Given the description of an element on the screen output the (x, y) to click on. 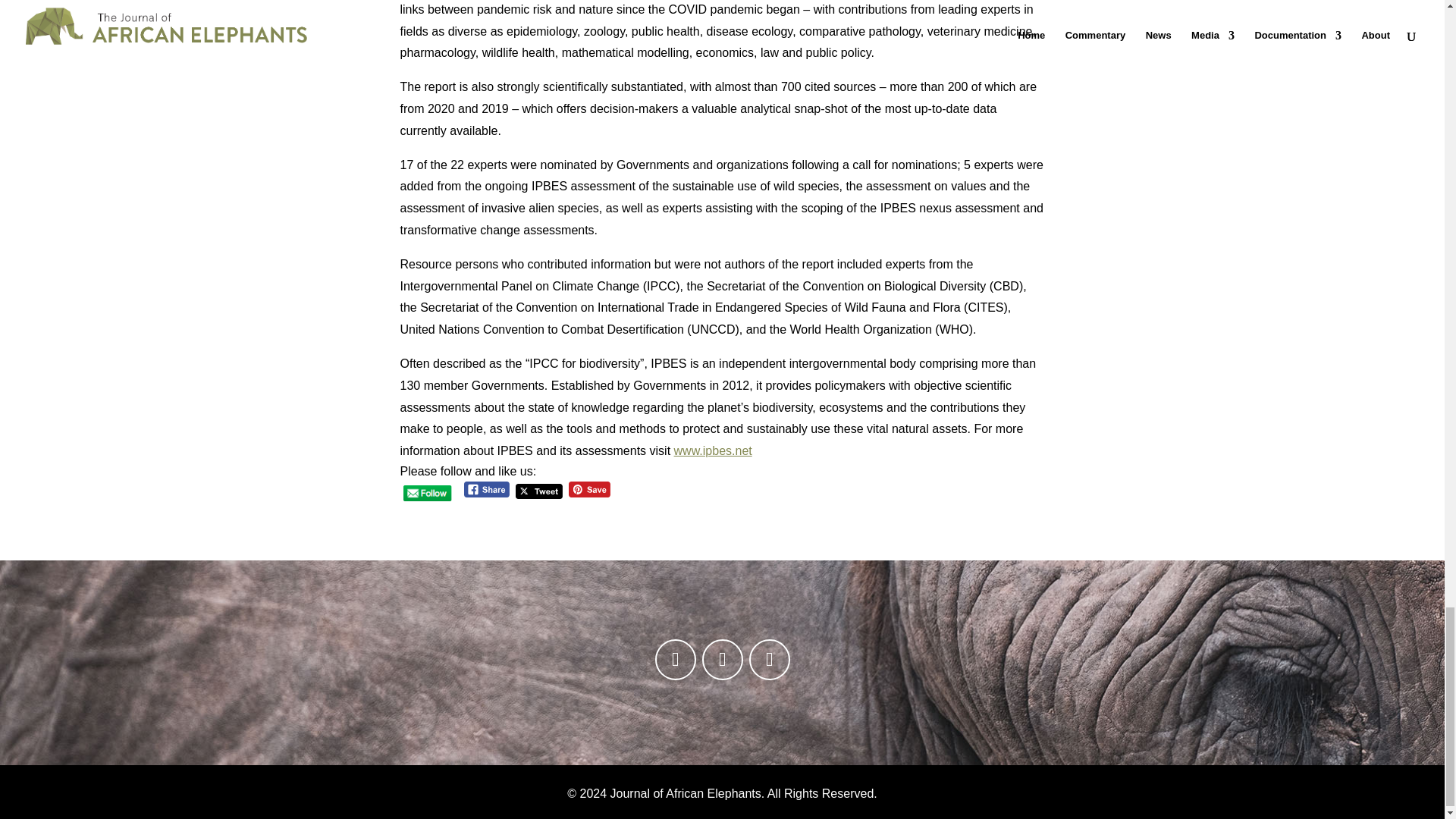
Follow on Facebook (675, 659)
www.ipbes.net (713, 450)
Facebook Share (487, 489)
Follow on Instagram (721, 659)
Follow on X (769, 659)
Tweet (538, 491)
Pin Share (589, 489)
